Given the description of an element on the screen output the (x, y) to click on. 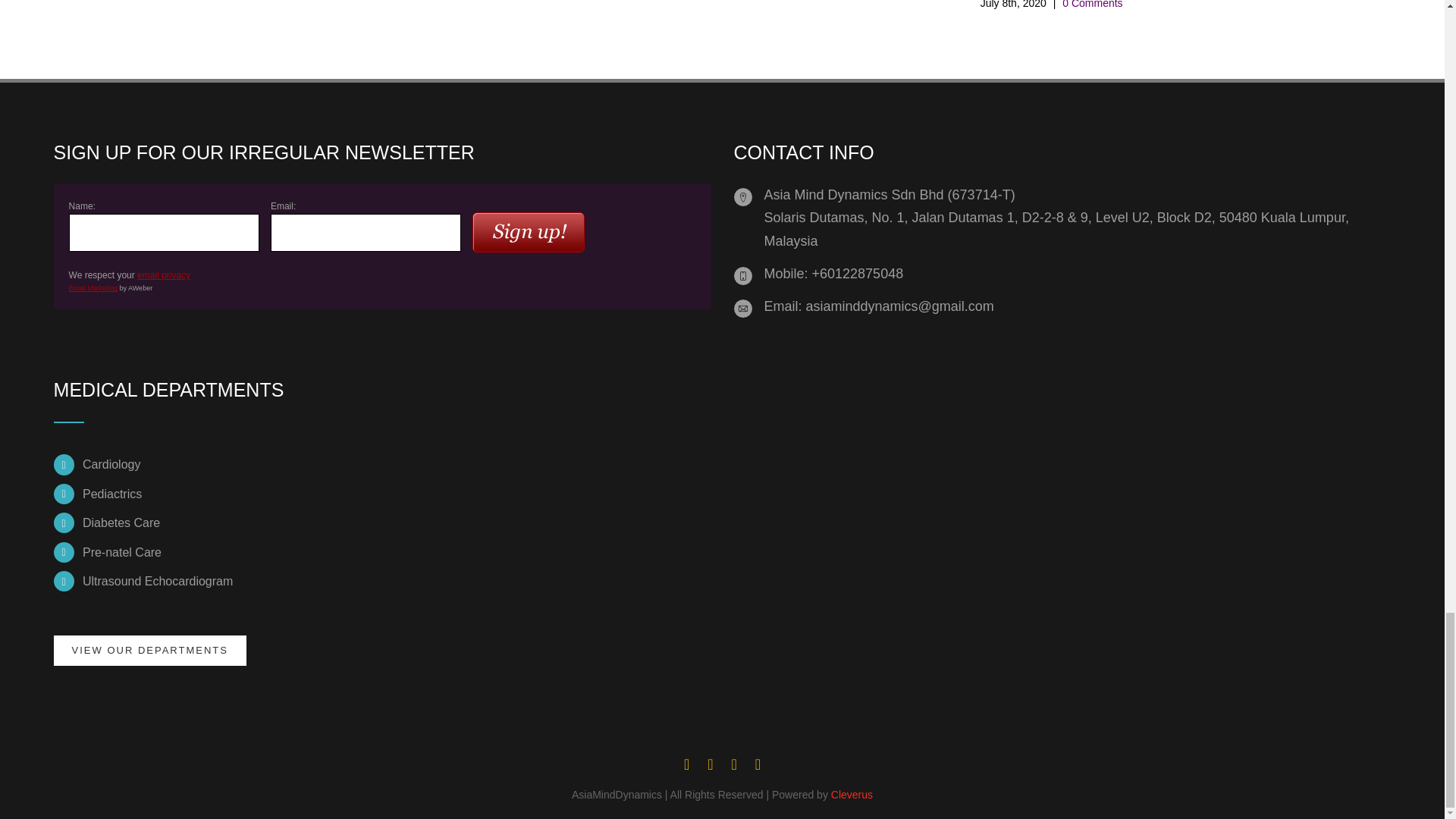
Privacy Policy (163, 275)
Email Marketing (92, 287)
